Given the description of an element on the screen output the (x, y) to click on. 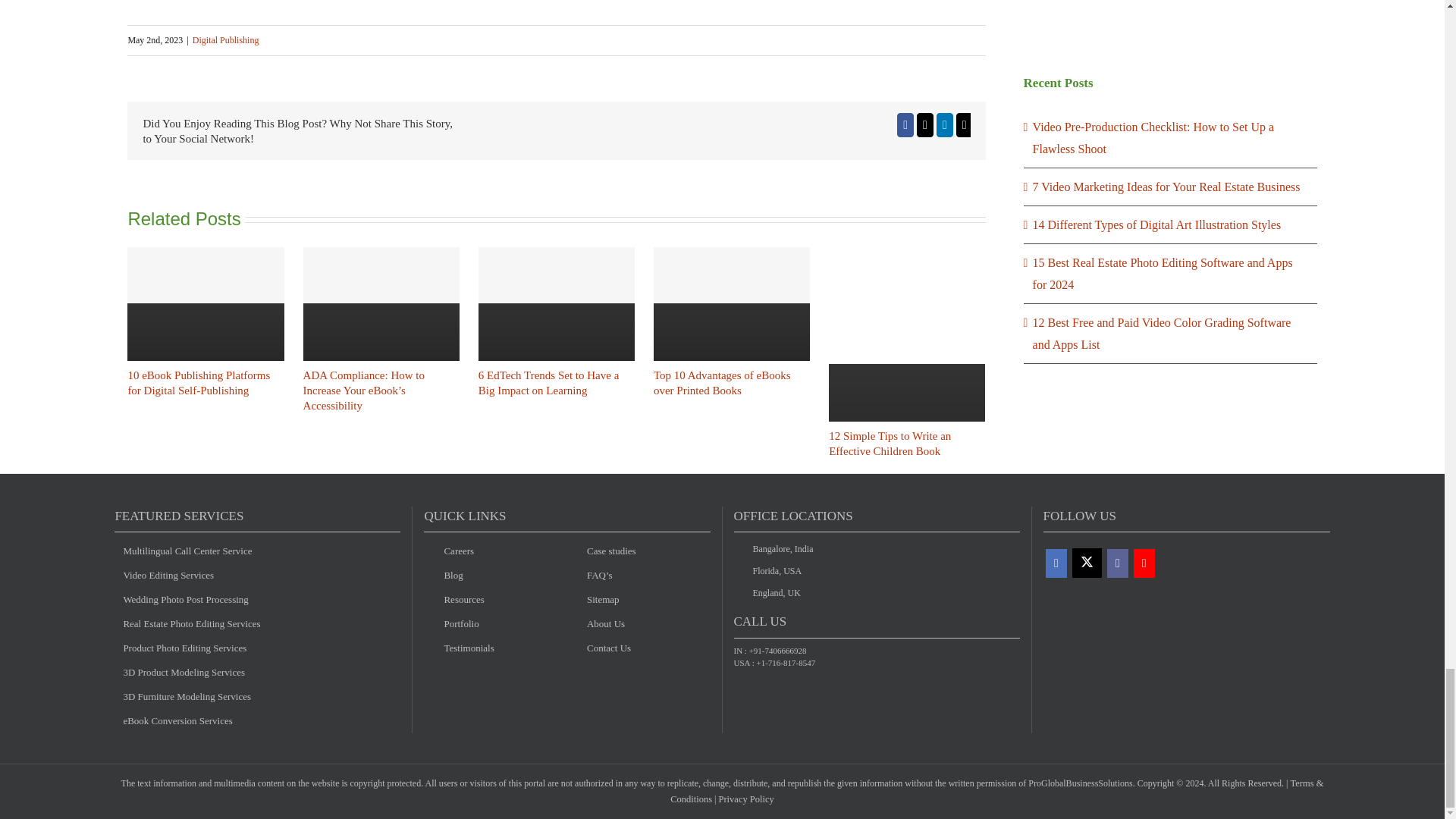
10 eBook Publishing Platforms for Digital Self-Publishing (198, 382)
12 Simple Tips to Write an Effective Children Book (889, 443)
Top 10 Advantages of eBooks over Printed Books (721, 382)
6 EdTech Trends Set to Have a Big Impact on Learning (549, 382)
